Given the description of an element on the screen output the (x, y) to click on. 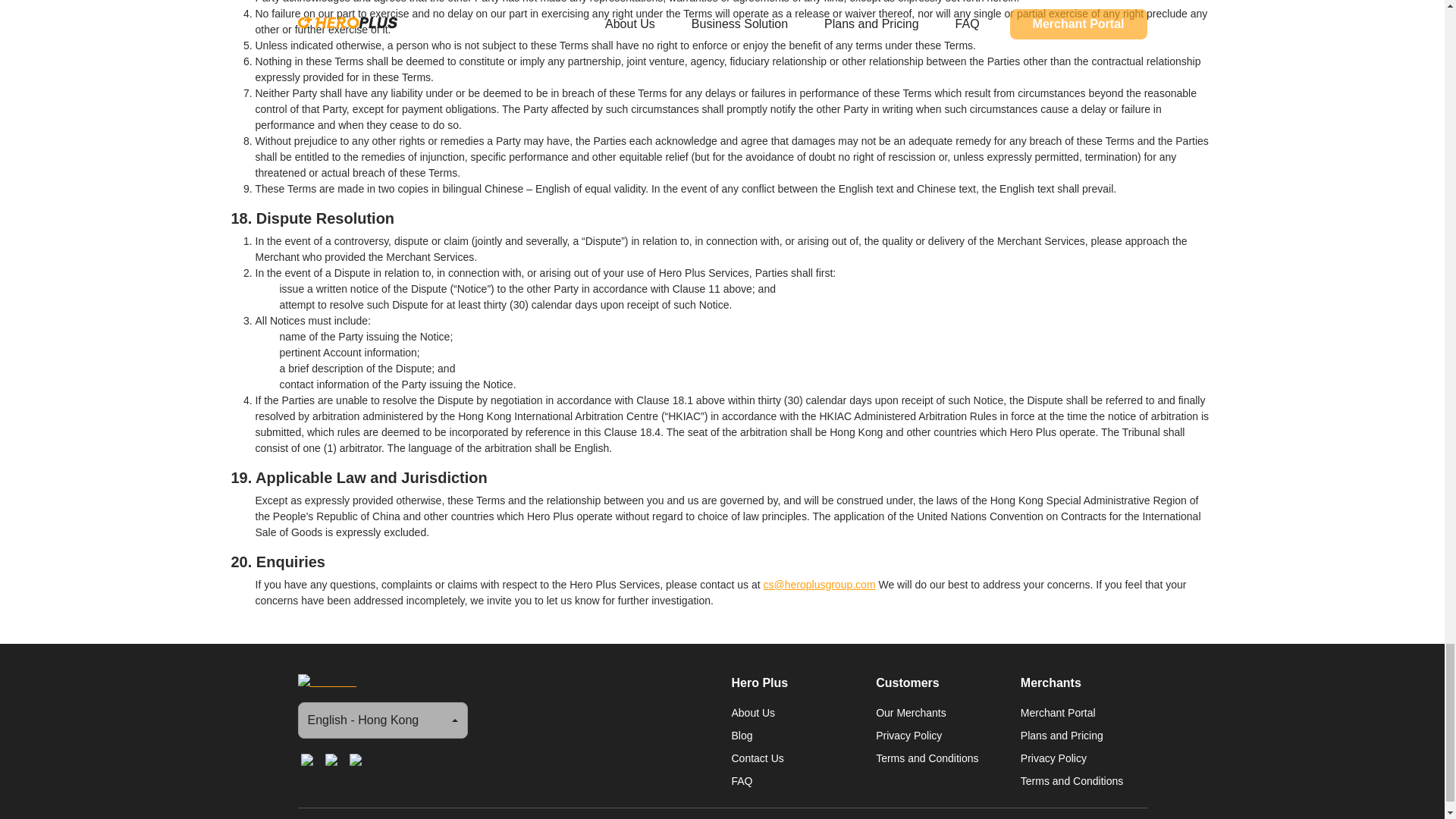
About Us (793, 711)
Privacy Policy (1083, 757)
Terms and Conditions (939, 757)
Plans and Pricing (1083, 734)
English - Hong Kong (382, 719)
Blog (793, 734)
Privacy Policy (939, 734)
Contact Us (793, 757)
Terms and Conditions (1083, 780)
FAQ (793, 780)
